Given the description of an element on the screen output the (x, y) to click on. 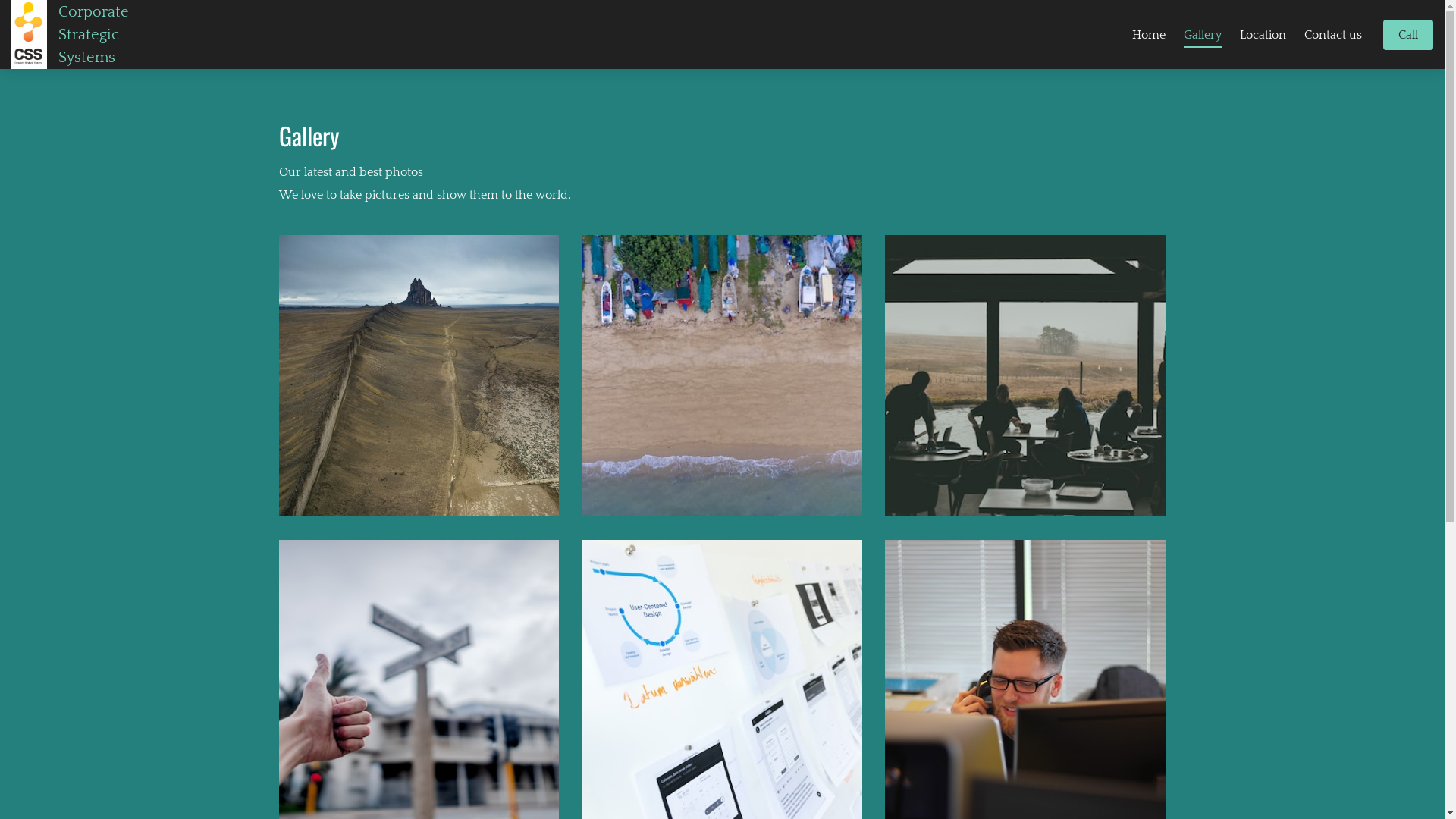
Home Element type: text (1148, 33)
Location Element type: text (1262, 33)
Contact us Element type: text (1332, 33)
Call Element type: text (1408, 34)
Gallery Element type: text (1202, 33)
Corporate Strategic Systems Element type: text (160, 34)
